Given the description of an element on the screen output the (x, y) to click on. 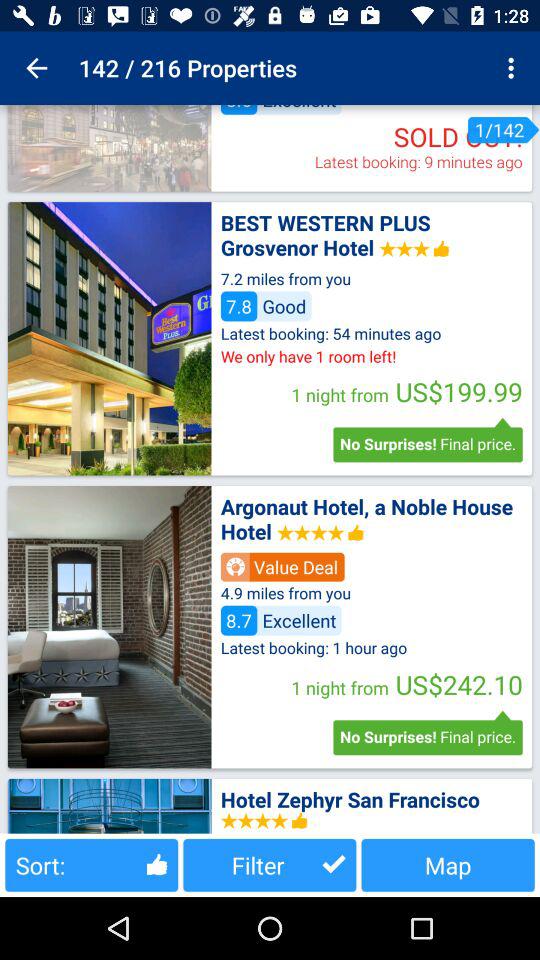
press the button to the left of the filter item (91, 864)
